Given the description of an element on the screen output the (x, y) to click on. 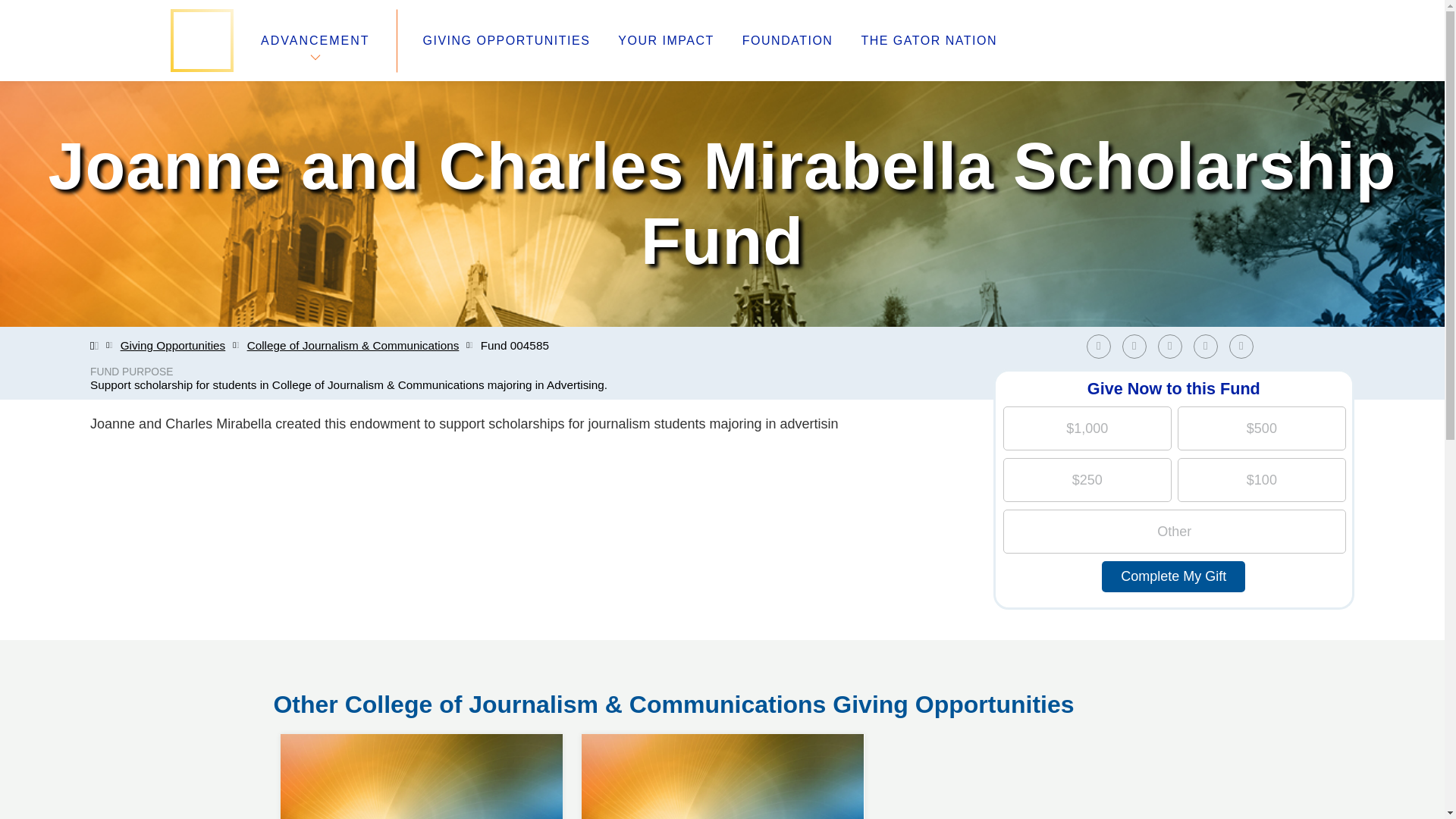
Advancement Toolkit (565, 686)
Share on Reddit (1209, 345)
Complete My Gift (1173, 576)
Advancement HUB (560, 668)
Share on Twitter (1138, 345)
Disclosures (537, 723)
Privacy Policy (545, 704)
Giving Opportunities (172, 345)
FOUNDATION (787, 40)
Share by Email (421, 734)
YOUR IMPACT (1240, 346)
THE GATOR NATION (665, 40)
Share by Email (928, 40)
Join Our Team (1244, 345)
